Given the description of an element on the screen output the (x, y) to click on. 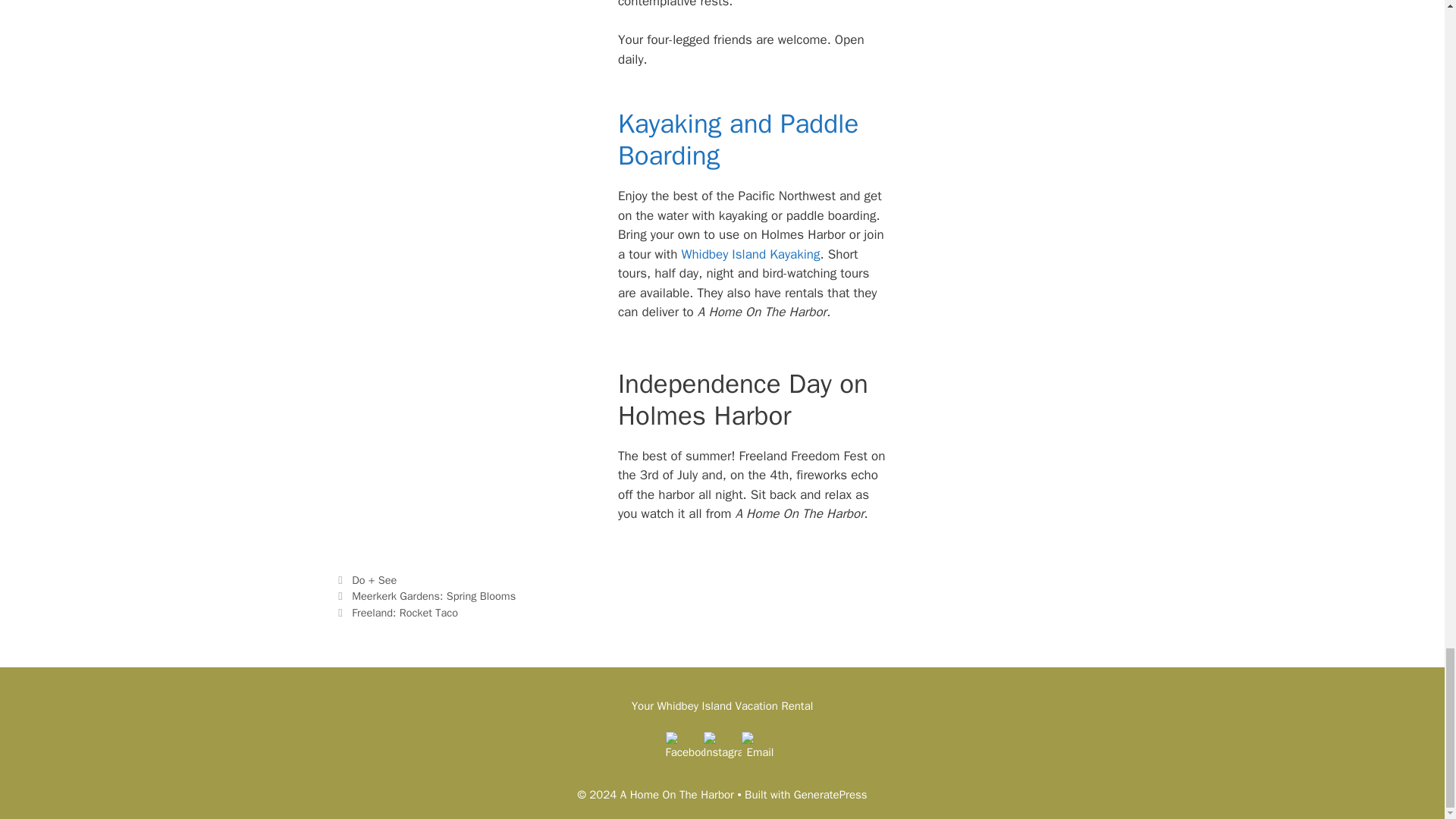
Whidbey Island Kayaking (750, 254)
Kayaking and Paddle Boarding (738, 139)
Instagram (722, 750)
Freeland: Rocket Taco (405, 612)
Facebook (684, 750)
Meerkerk Gardens: Spring Blooms (433, 595)
Email (759, 750)
